Given the description of an element on the screen output the (x, y) to click on. 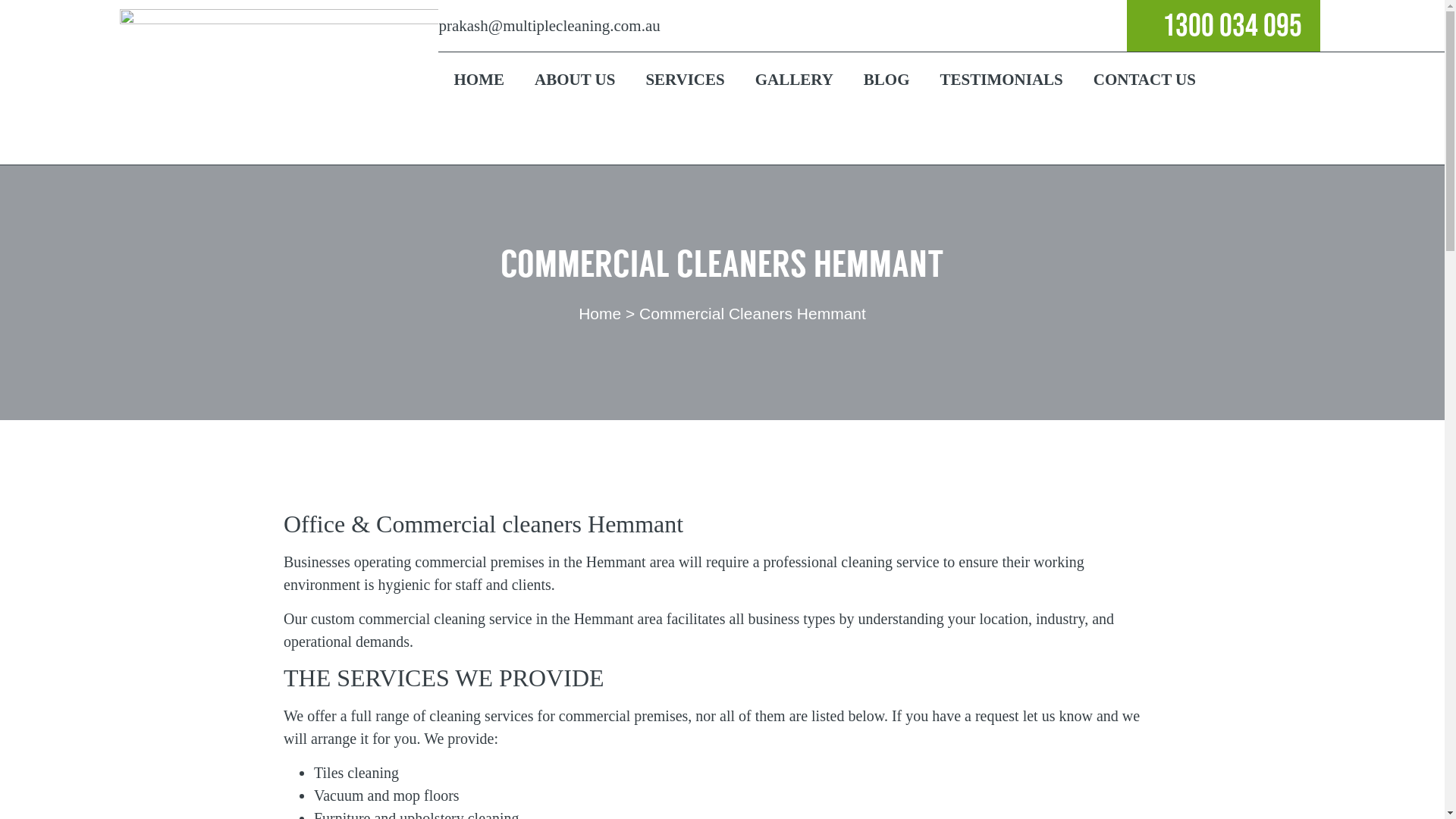
Home Element type: text (599, 313)
1300 034 095 Element type: text (1204, 25)
HOME Element type: text (478, 77)
ABOUT US Element type: text (574, 77)
SERVICES Element type: text (684, 77)
TESTIMONIALS Element type: text (1001, 77)
BLOG Element type: text (886, 77)
CONTACT US Element type: text (1144, 77)
prakash@multiplecleaning.com.au Element type: text (548, 25)
GALLERY Element type: text (794, 77)
